Given the description of an element on the screen output the (x, y) to click on. 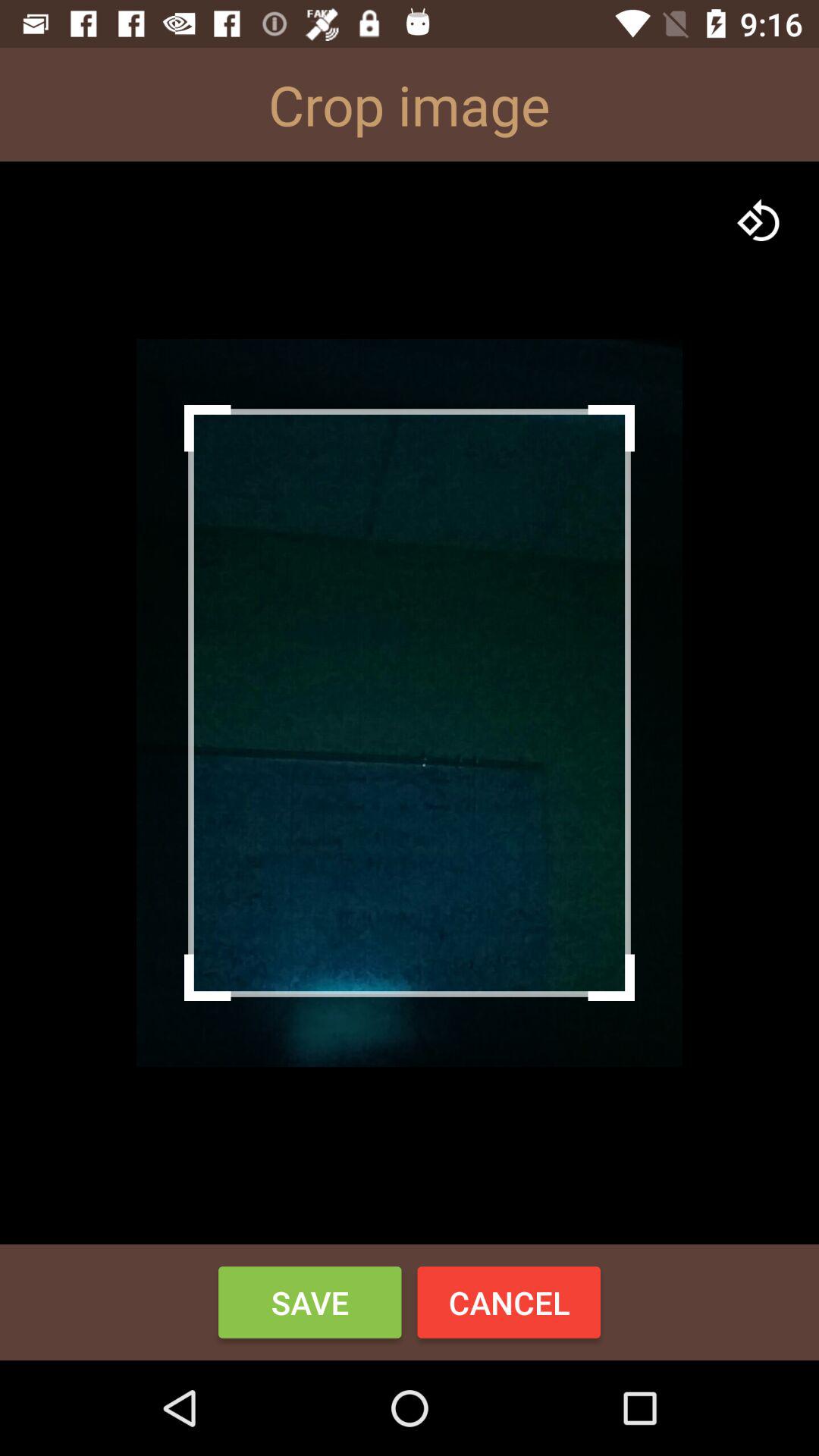
click button to the left of the cancel button (309, 1302)
